Given the description of an element on the screen output the (x, y) to click on. 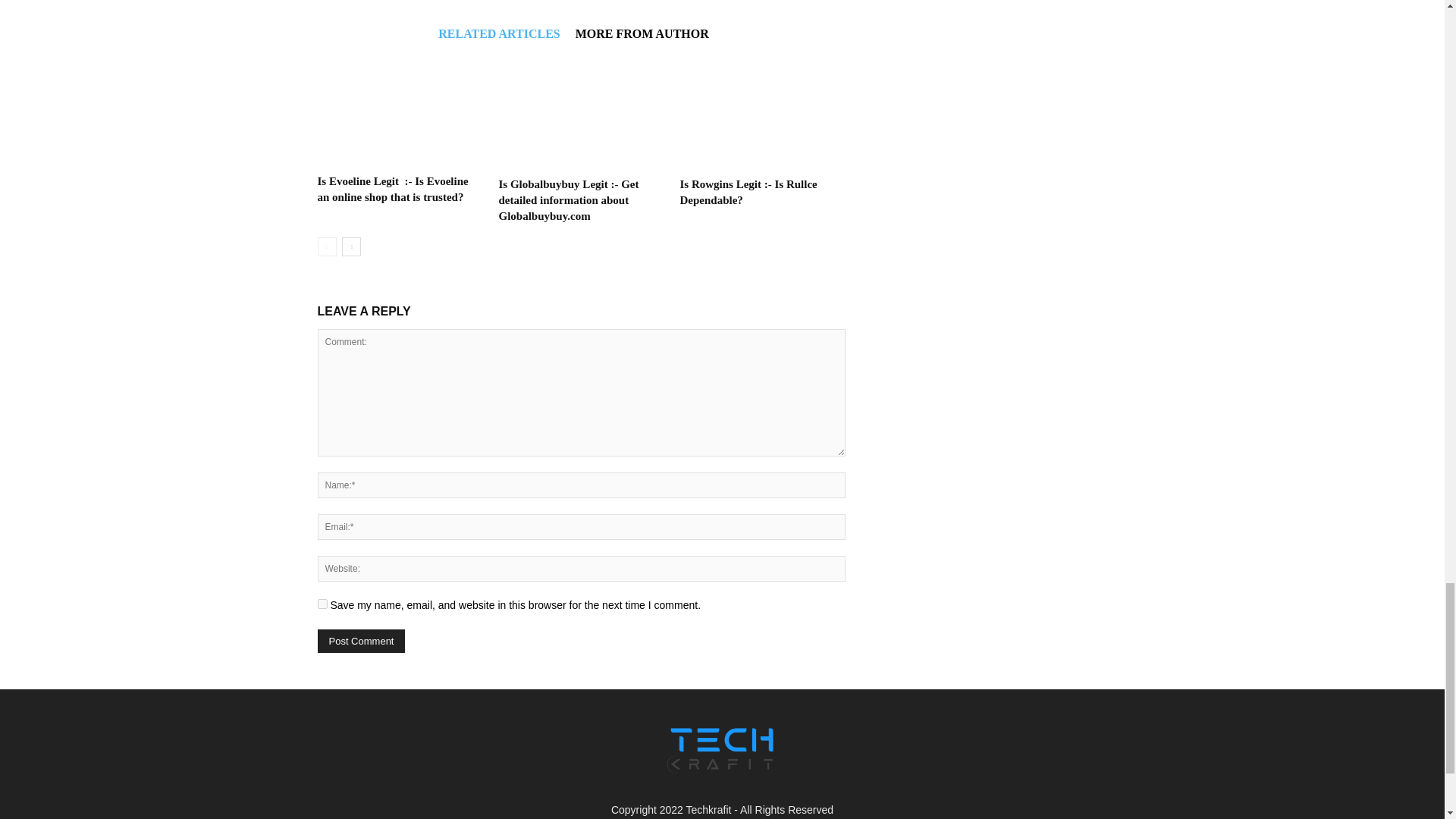
Post Comment (360, 640)
yes (321, 603)
